Given the description of an element on the screen output the (x, y) to click on. 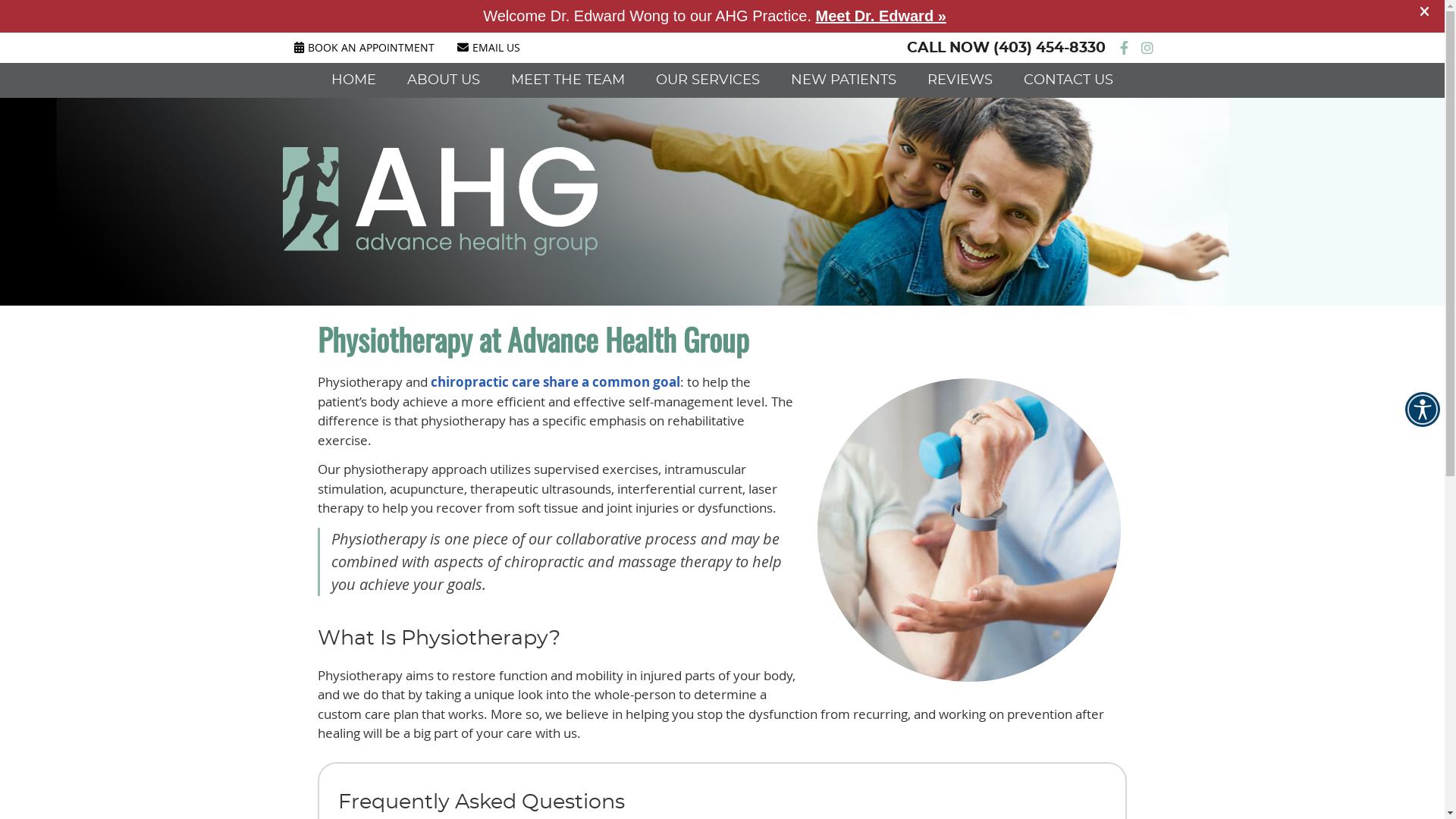
EMAIL US Element type: text (487, 46)
MEET THE TEAM Element type: text (567, 79)
Advance Health Group Element type: text (439, 250)
OUR SERVICES Element type: text (707, 79)
ABOUT US Element type: text (443, 79)
NEW PATIENTS Element type: text (843, 79)
Instagram Social Button Element type: text (1146, 47)
(403) 454-8330 Element type: text (1049, 47)
BOOK AN APPOINTMENT Element type: text (364, 46)
CONTACT US Element type: text (1068, 79)
REVIEWS Element type: text (960, 79)
chiropractic care share a common goal Element type: text (555, 381)
HOME Element type: text (354, 79)
Facebook Social Button Element type: text (1123, 47)
